Given the description of an element on the screen output the (x, y) to click on. 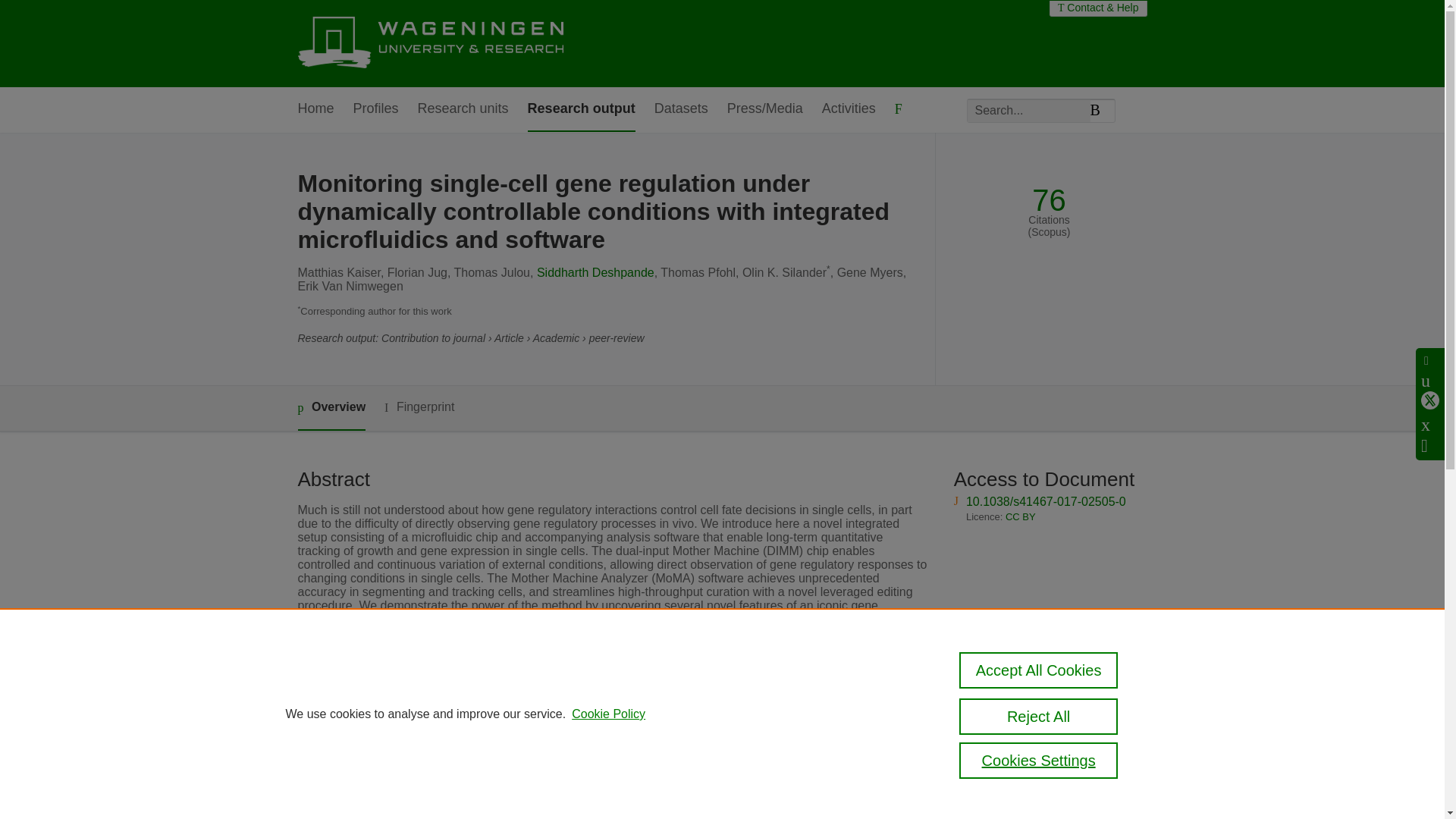
Siddharth Deshpande (595, 272)
Fingerprint (419, 407)
Datasets (680, 108)
Research units (462, 108)
Nature Communications (574, 692)
Activities (849, 108)
Overview (331, 407)
Research output (580, 108)
76 (1048, 200)
